Given the description of an element on the screen output the (x, y) to click on. 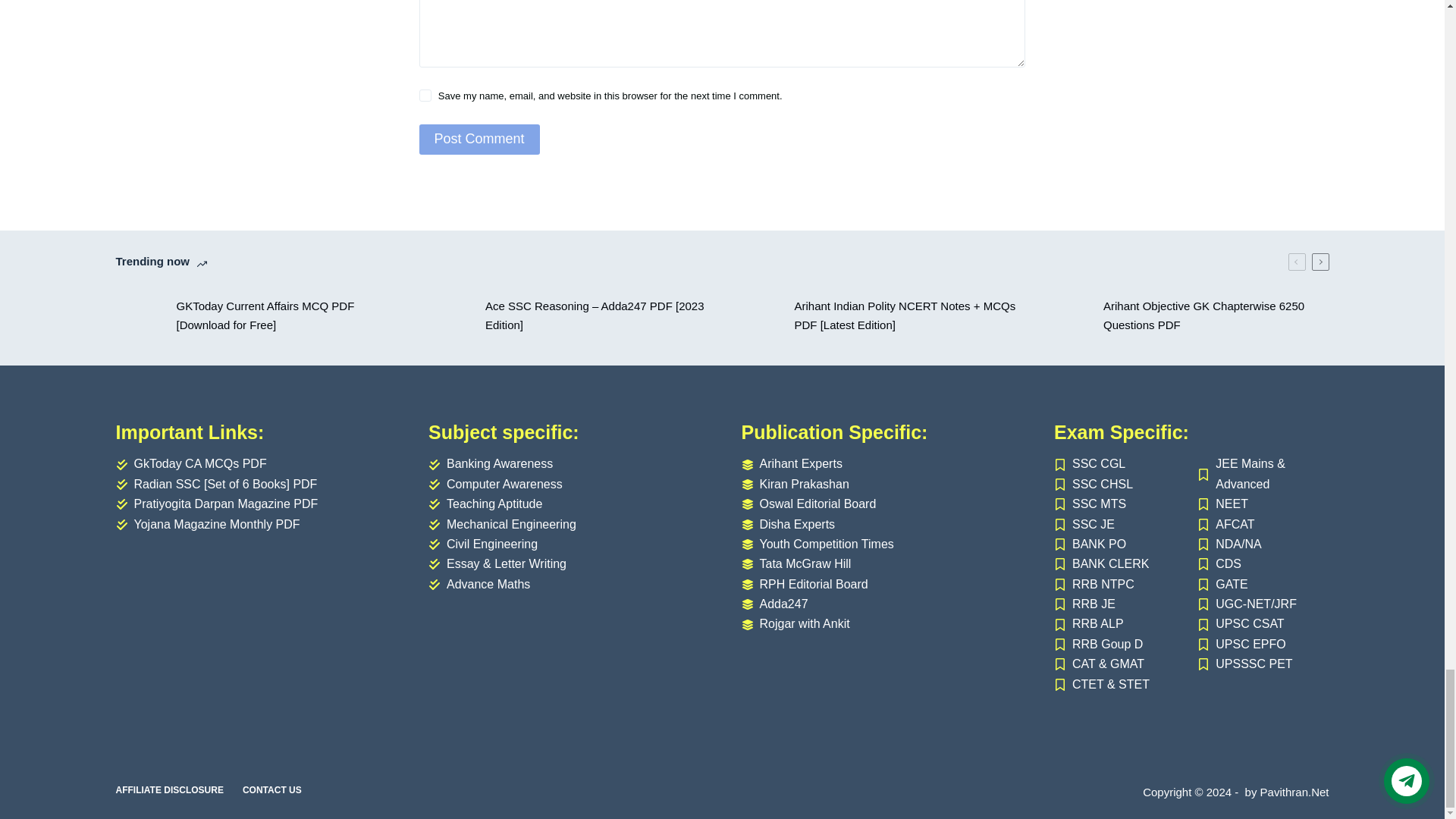
yes (424, 95)
